Given the description of an element on the screen output the (x, y) to click on. 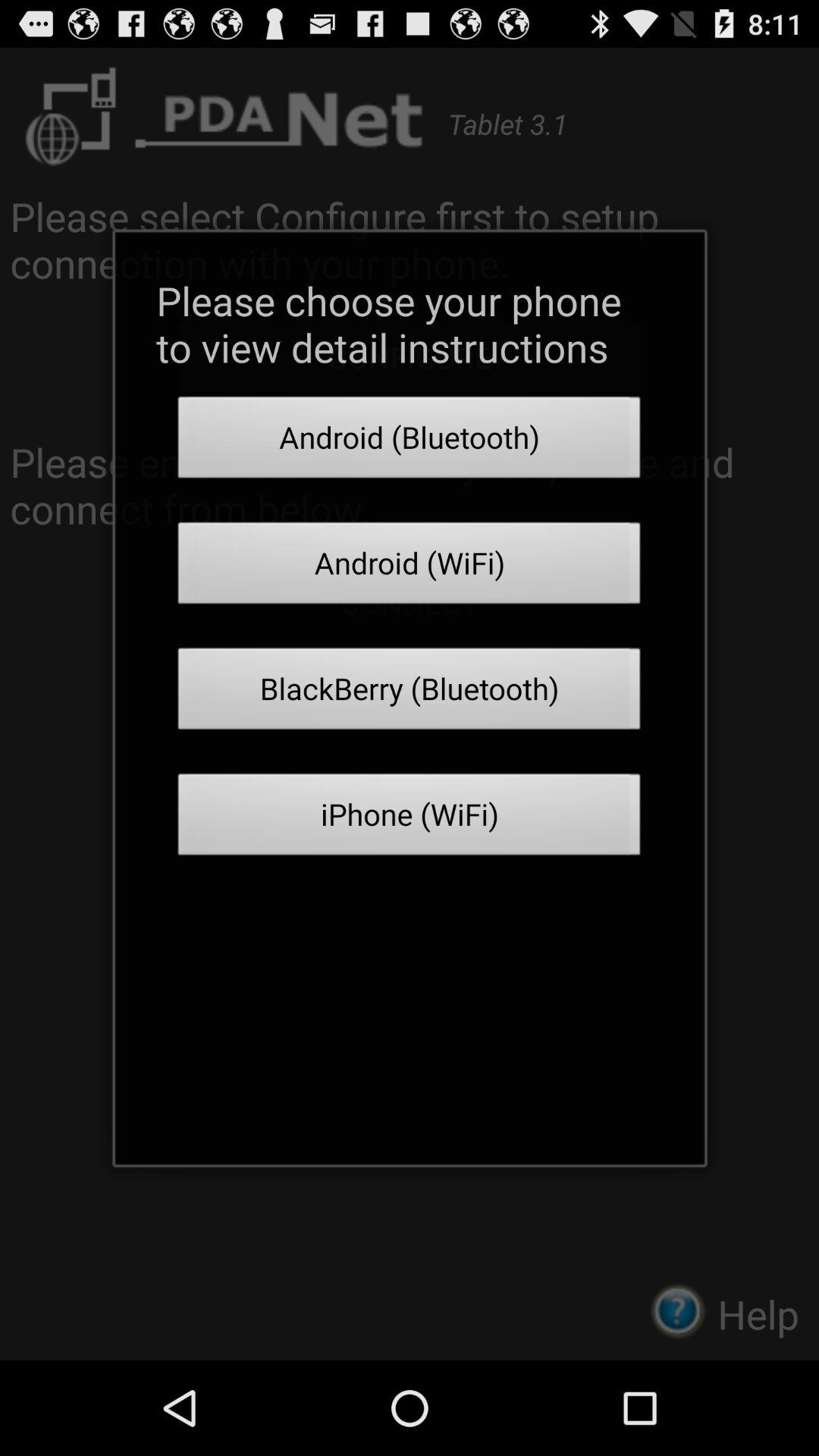
tap the button above android (wifi) (409, 441)
